Given the description of an element on the screen output the (x, y) to click on. 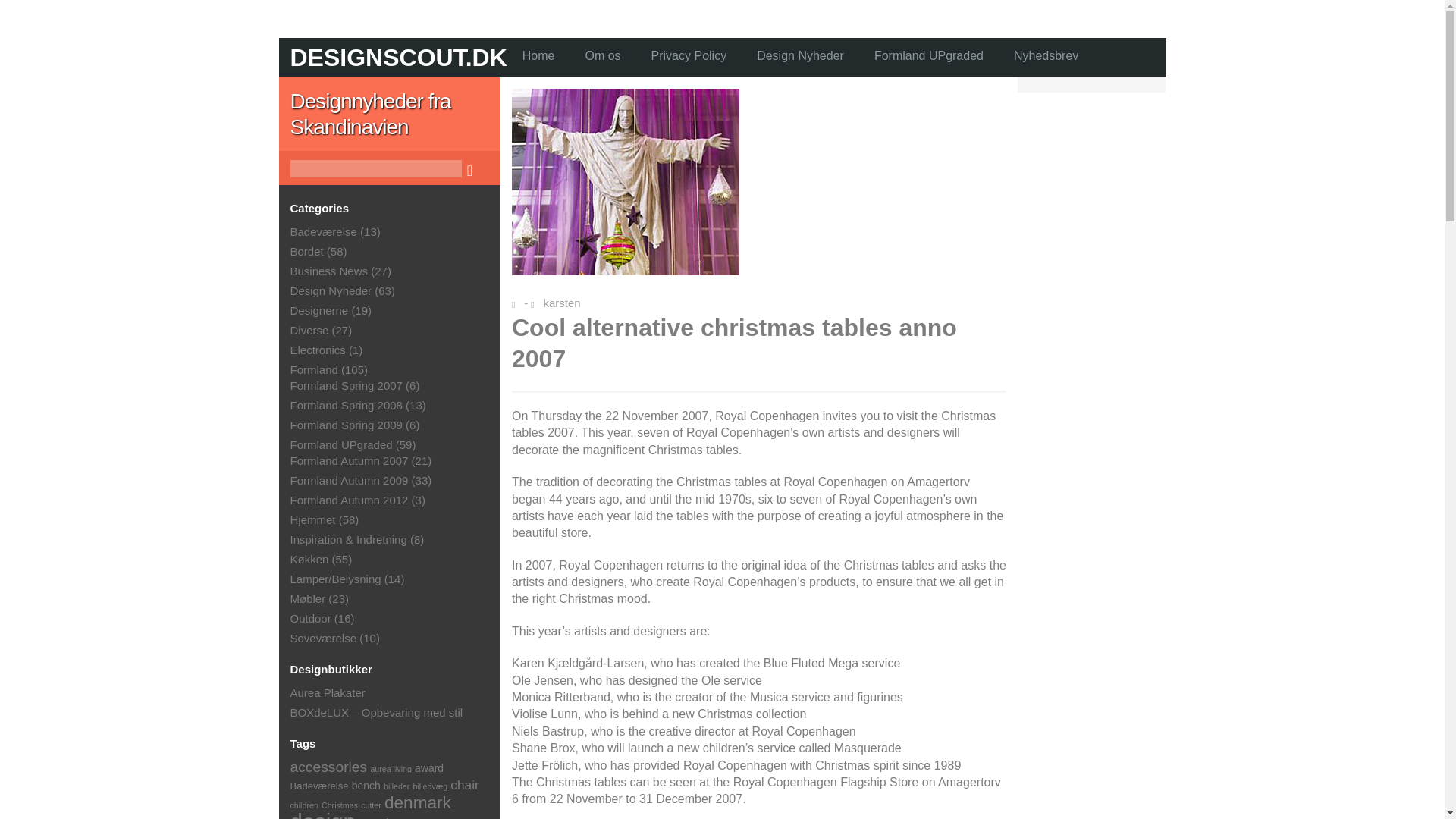
Formland UPgraded (928, 56)
Om os (601, 56)
Privacy Policy (689, 56)
Electronics (317, 349)
Formland Spring 2008 (345, 404)
Designerne (318, 309)
Danmarks bedste udvalg af design plakater (327, 692)
Design Nyheder (330, 290)
DESIGNSCOUT.DK (397, 56)
Nyhedsbrev (1045, 56)
Home (538, 56)
Design Nyheder (800, 56)
Search for: (375, 168)
Search (24, 8)
Bordet (306, 250)
